Given the description of an element on the screen output the (x, y) to click on. 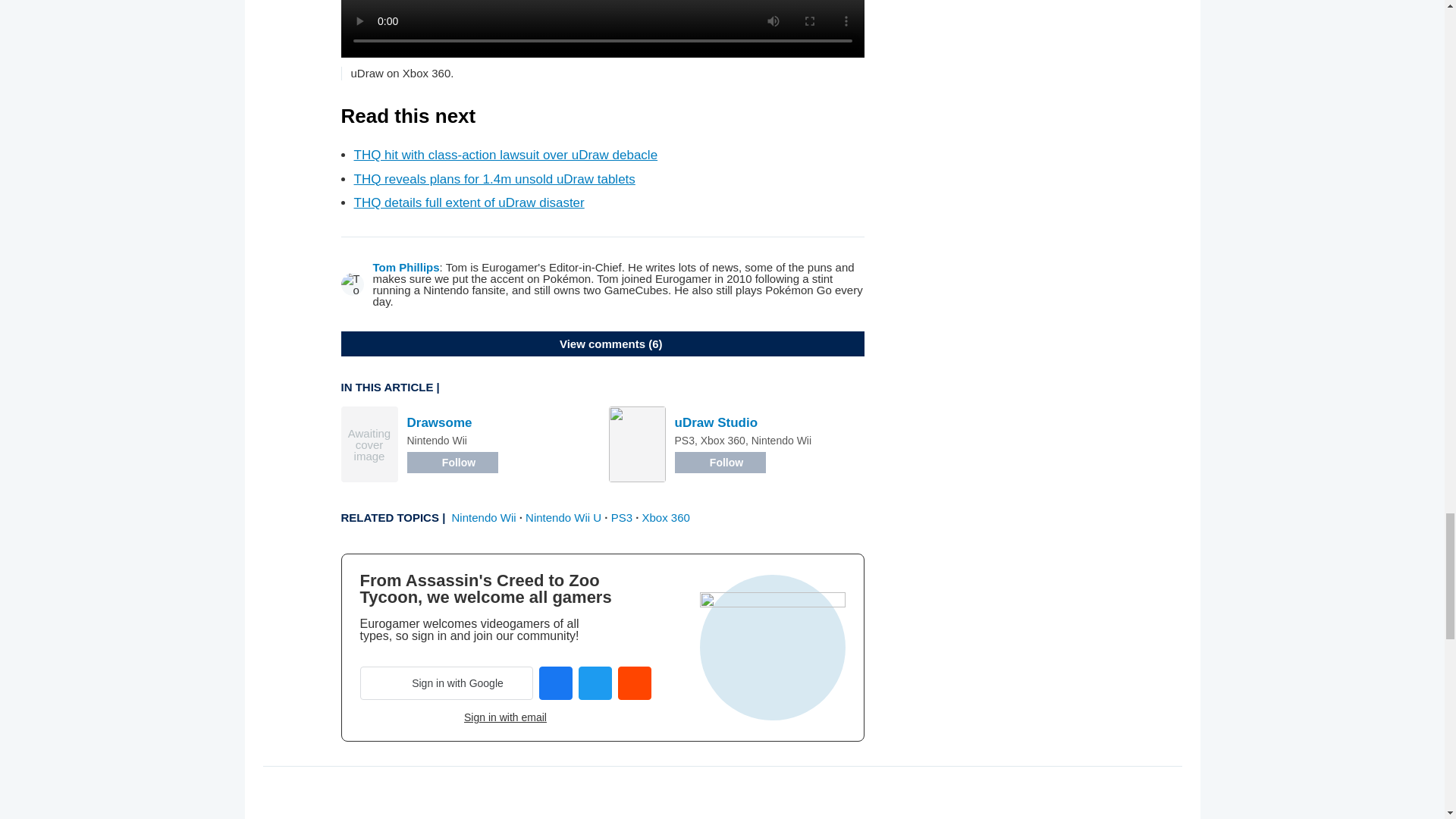
Follow (451, 462)
Follow (720, 462)
Drawsome (438, 422)
THQ details full extent of uDraw disaster (468, 202)
uDraw Studio (716, 422)
THQ reveals plans for 1.4m unsold uDraw tablets (493, 178)
Nintendo Wii (483, 517)
Tom Phillips (405, 267)
THQ hit with class-action lawsuit over uDraw debacle (505, 155)
